Given the description of an element on the screen output the (x, y) to click on. 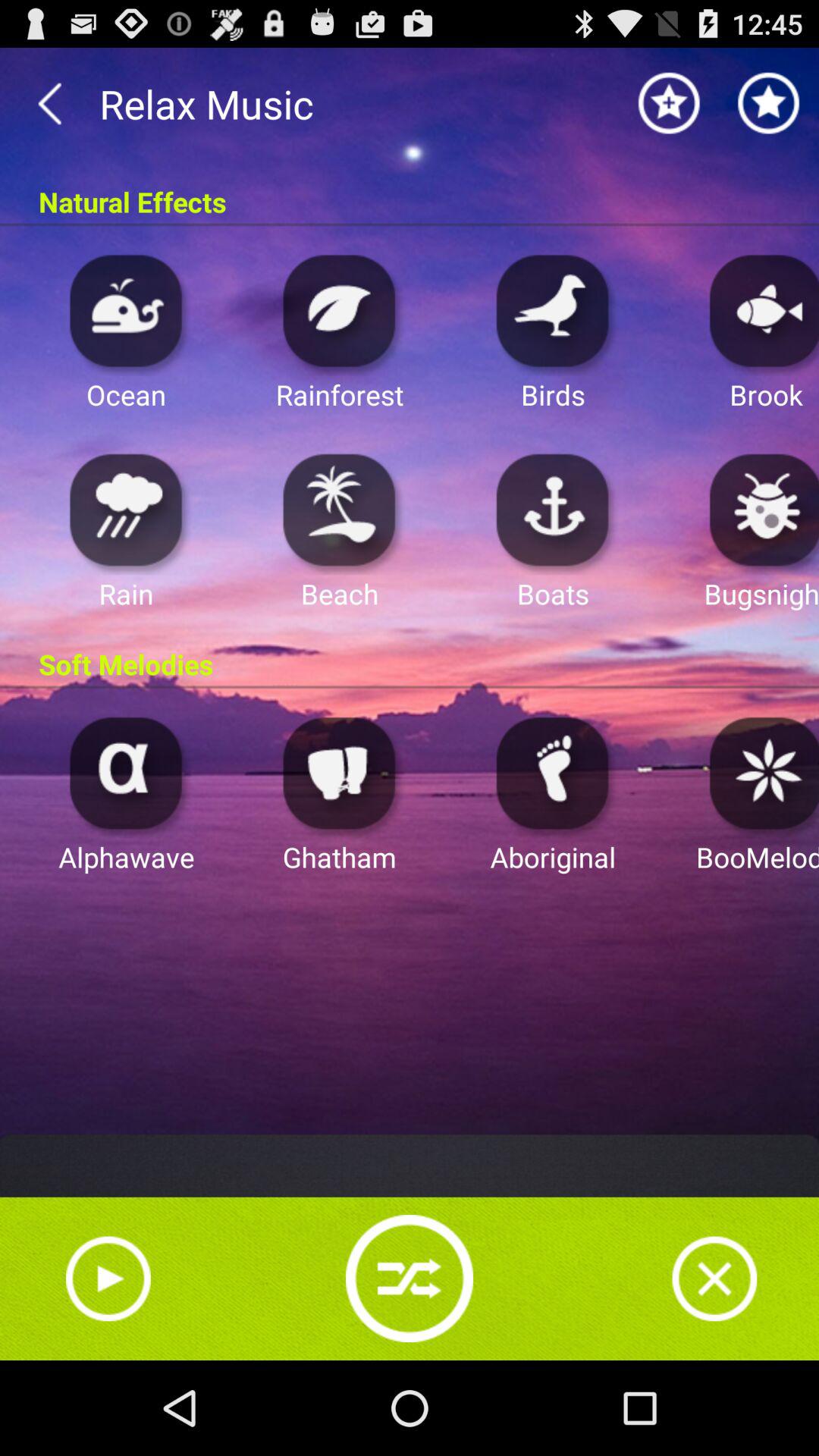
play boomeloo music (759, 772)
